Given the description of an element on the screen output the (x, y) to click on. 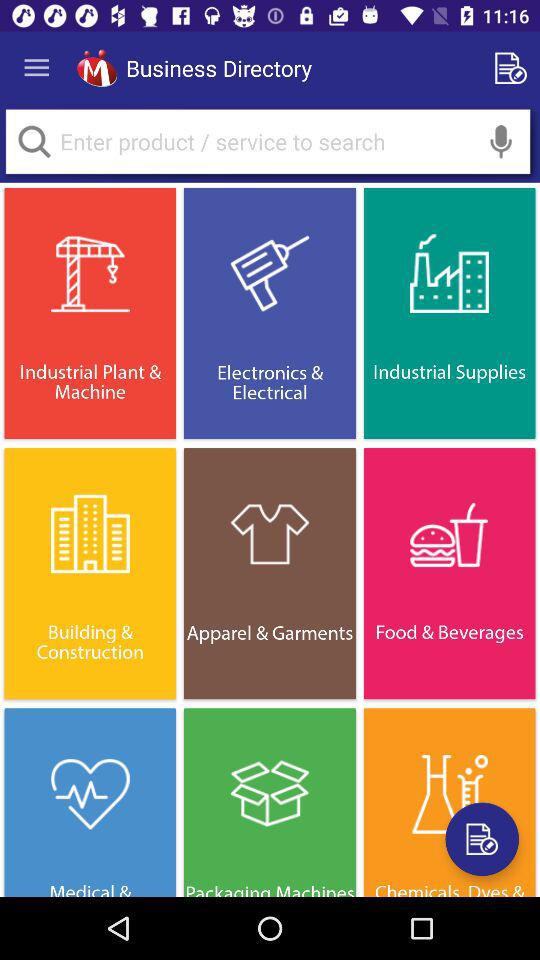
share the article (482, 839)
